Given the description of an element on the screen output the (x, y) to click on. 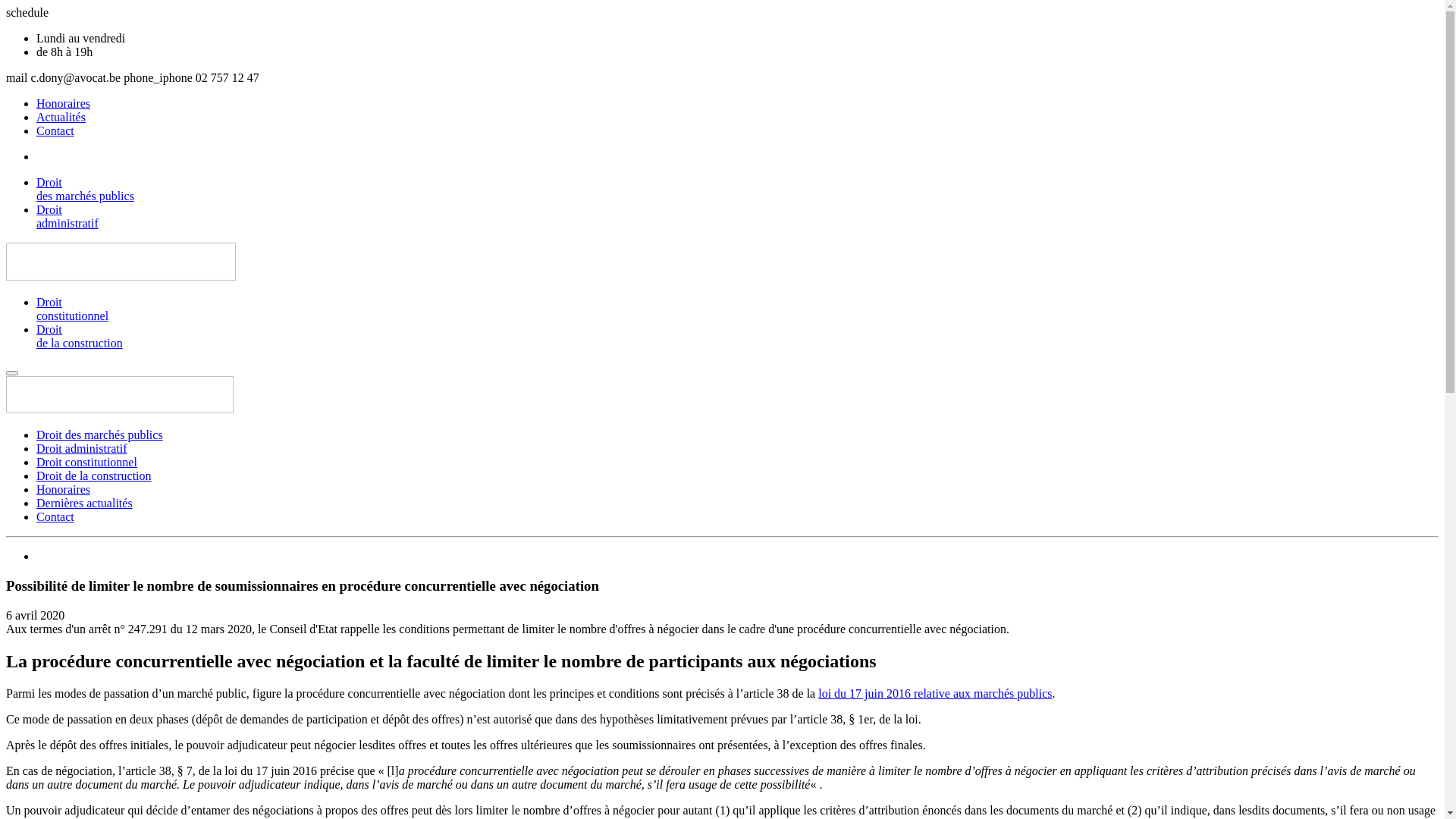
Droit
de la construction Element type: text (737, 336)
Contact Element type: text (55, 516)
Droit
constitutionnel Element type: text (737, 309)
Droit administratif Element type: text (81, 448)
Contact Element type: text (55, 130)
Honoraires Element type: text (63, 489)
Droit de la construction Element type: text (93, 475)
Droit constitutionnel Element type: text (86, 461)
Droit
administratif Element type: text (737, 216)
Honoraires Element type: text (63, 103)
